Given the description of an element on the screen output the (x, y) to click on. 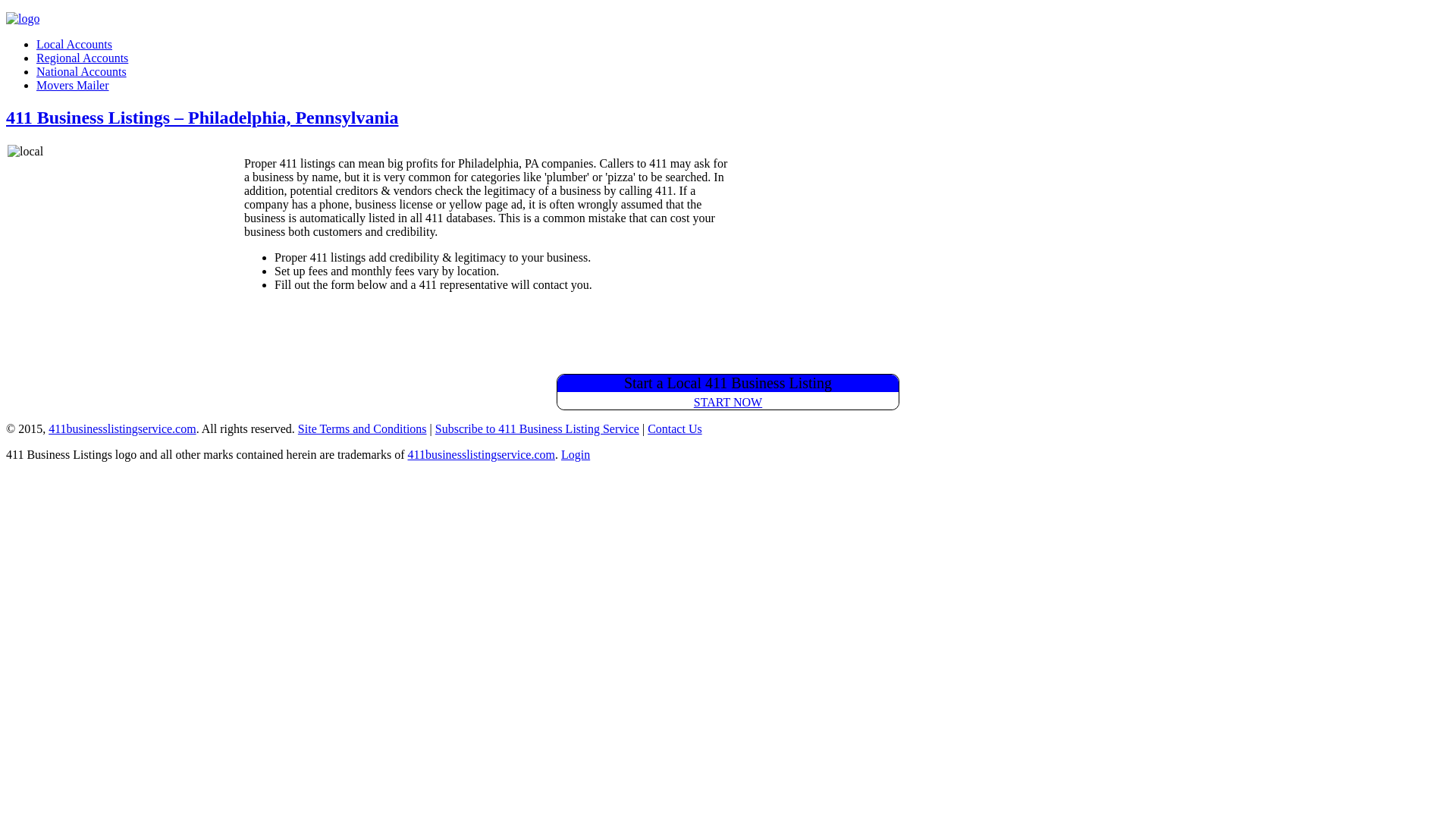
National Accounts Element type: text (81, 71)
Local Accounts Element type: text (74, 43)
Login Element type: text (575, 454)
411businesslistingservice.com Element type: text (122, 428)
Site Terms and Conditions Element type: text (362, 428)
Contact Us Element type: text (674, 428)
Movers Mailer Element type: text (72, 84)
Regional Accounts Element type: text (82, 57)
Subscribe to 411 Business Listing Service Element type: text (537, 428)
411businesslistingservice.com Element type: text (481, 454)
START NOW Element type: text (727, 401)
